Given the description of an element on the screen output the (x, y) to click on. 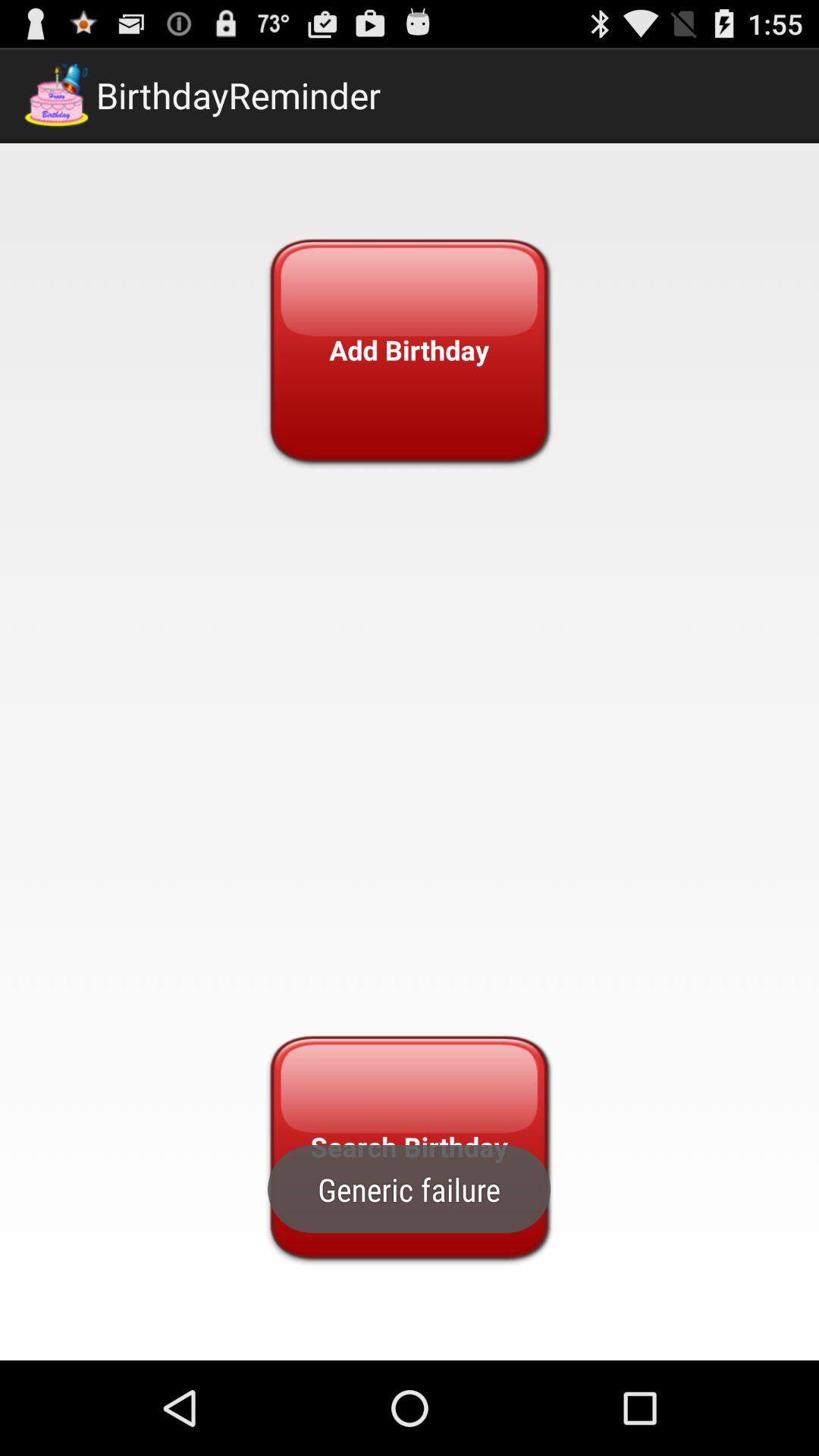
select the search birthday button (408, 1146)
